Given the description of an element on the screen output the (x, y) to click on. 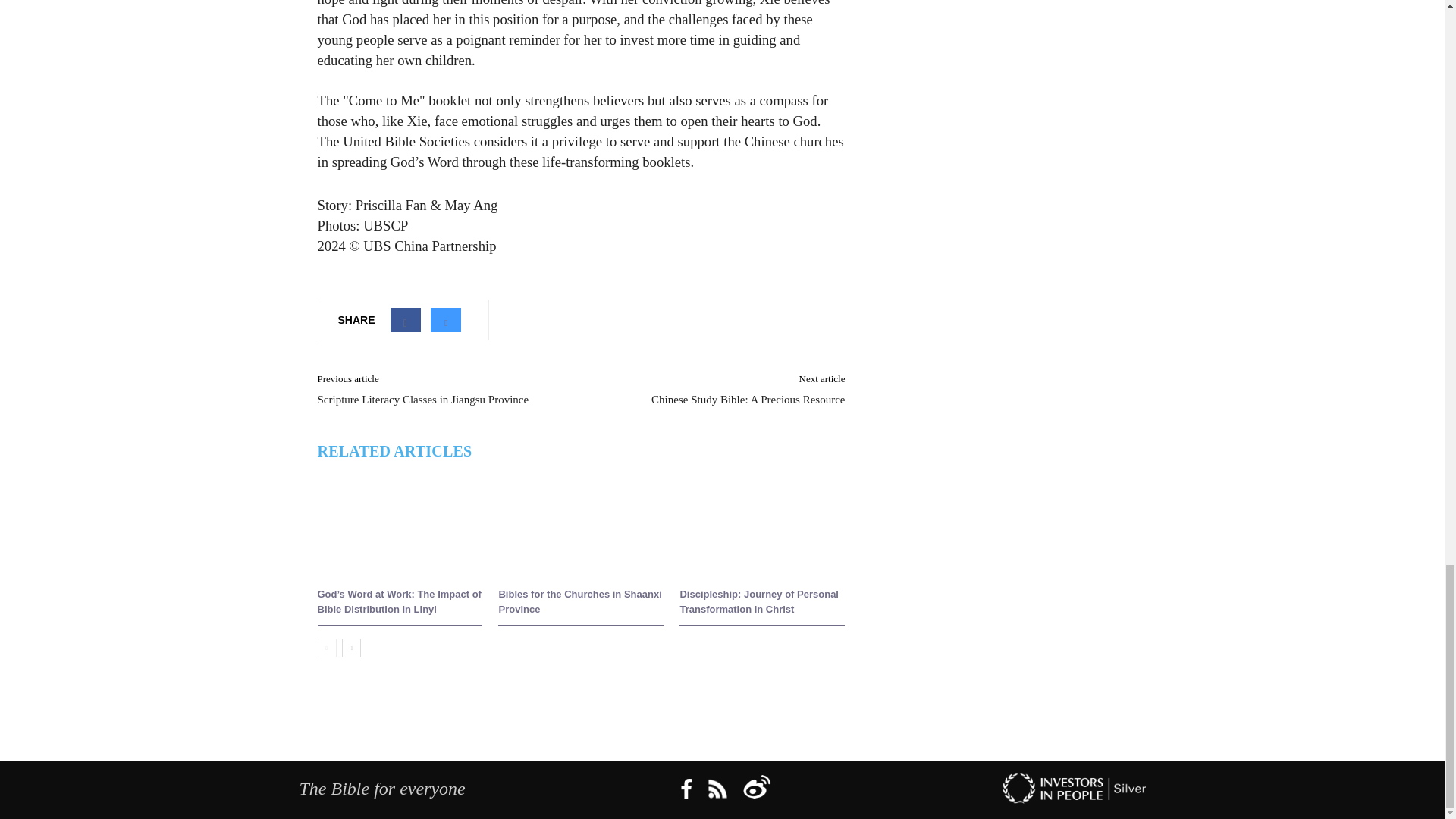
Bibles for the Churches in Shaanxi Province (580, 524)
Discipleship: Journey of Personal Transformation in Christ (761, 524)
Discipleship: Journey of Personal Transformation in Christ (758, 601)
Bibles for the Churches in Shaanxi Province (579, 601)
